Given the description of an element on the screen output the (x, y) to click on. 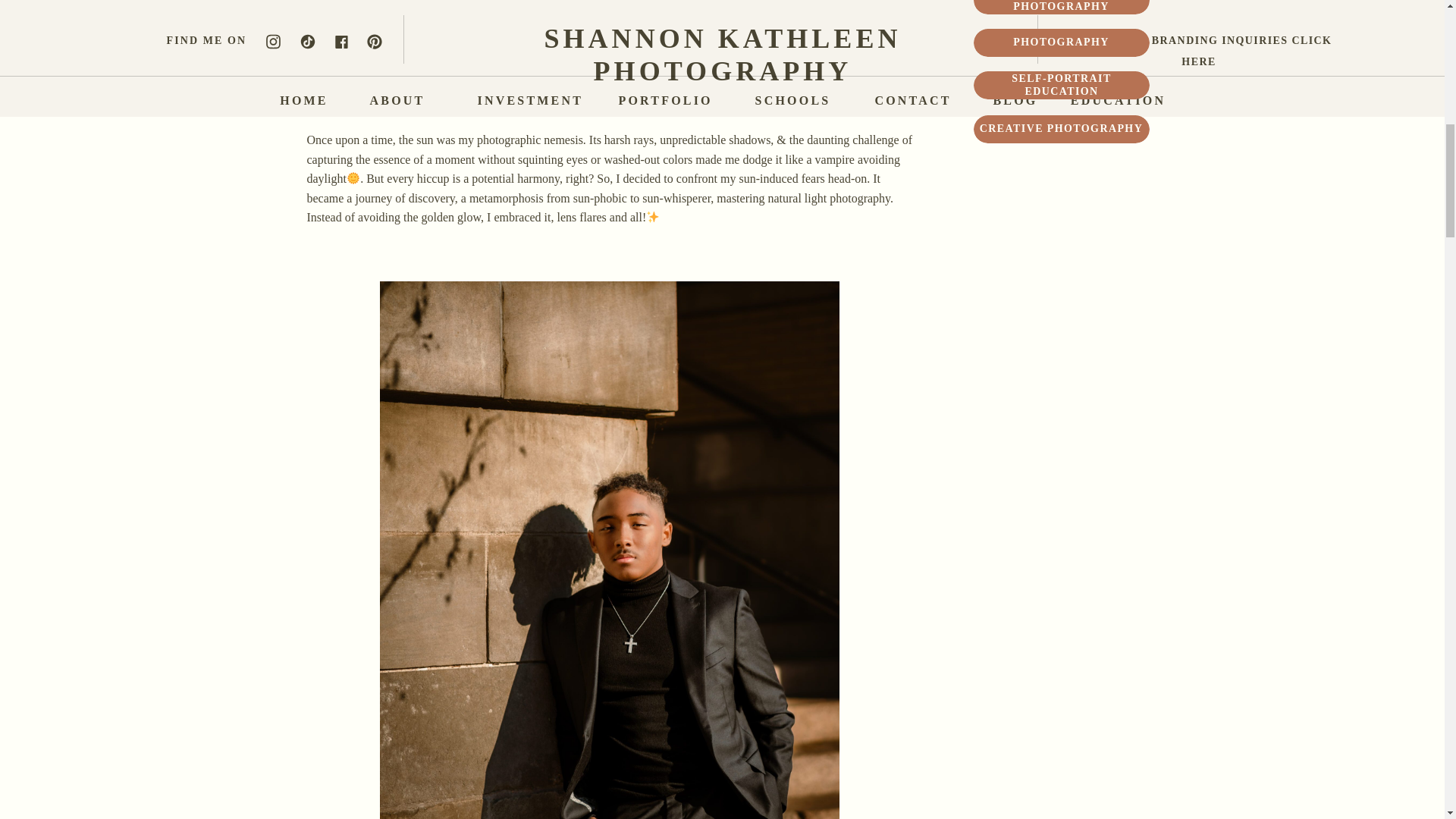
SELF-PORTRAIT EDUCATION (1061, 86)
DATING PROFILE PHOTOGRAPHY (1062, 7)
PHOTOGRAPHY (1062, 43)
CREATIVE PHOTOGRAPHY (1062, 129)
